Given the description of an element on the screen output the (x, y) to click on. 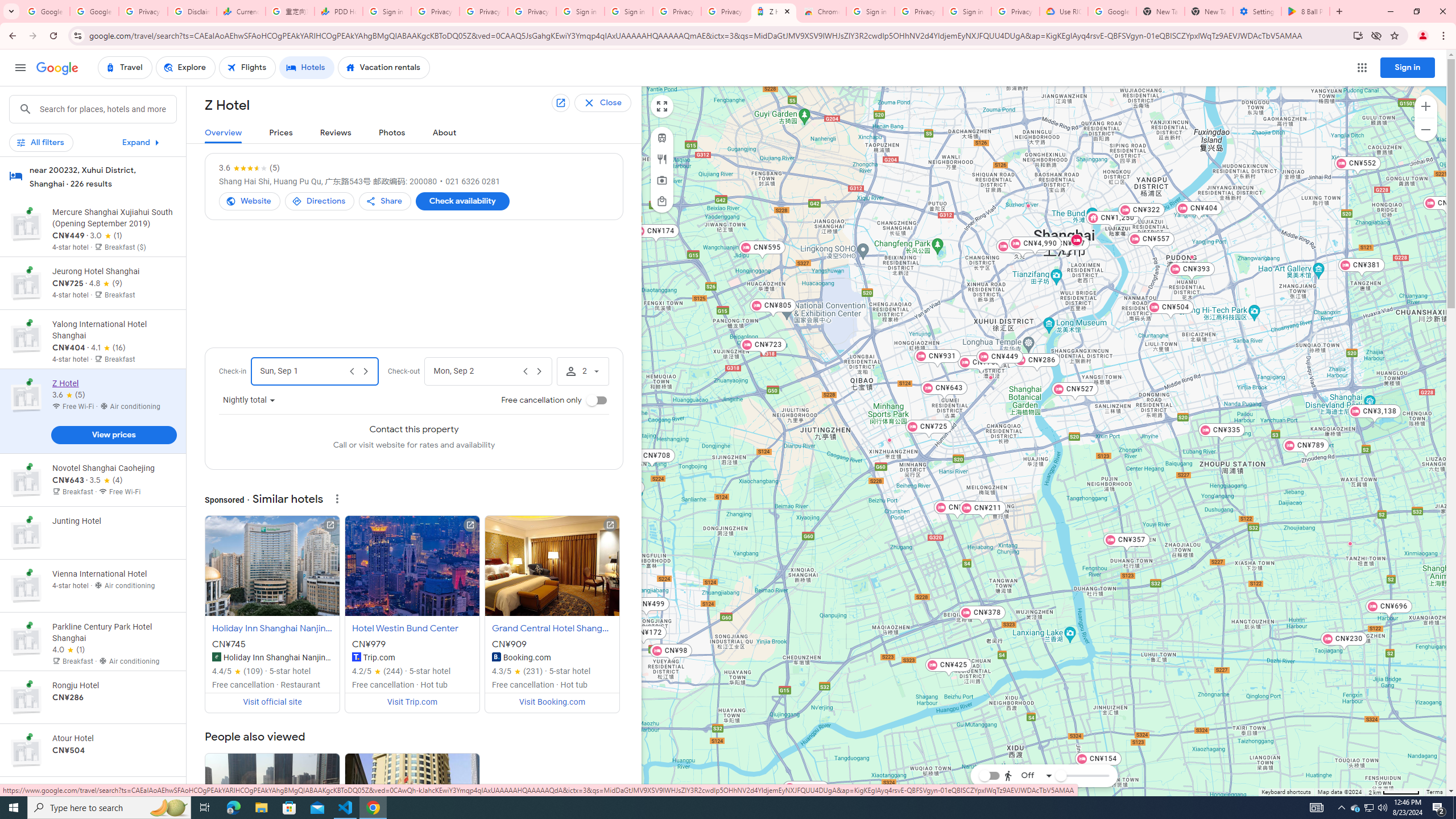
Photos (392, 133)
4.4 out of 5 stars from 109 reviews (237, 671)
Currencies - Google Finance (240, 11)
Map Scale: 2 km per 61 pixels (1393, 791)
View prices for Vienna International Hotel (113, 625)
Search for places, hotels and more (107, 108)
